Given the description of an element on the screen output the (x, y) to click on. 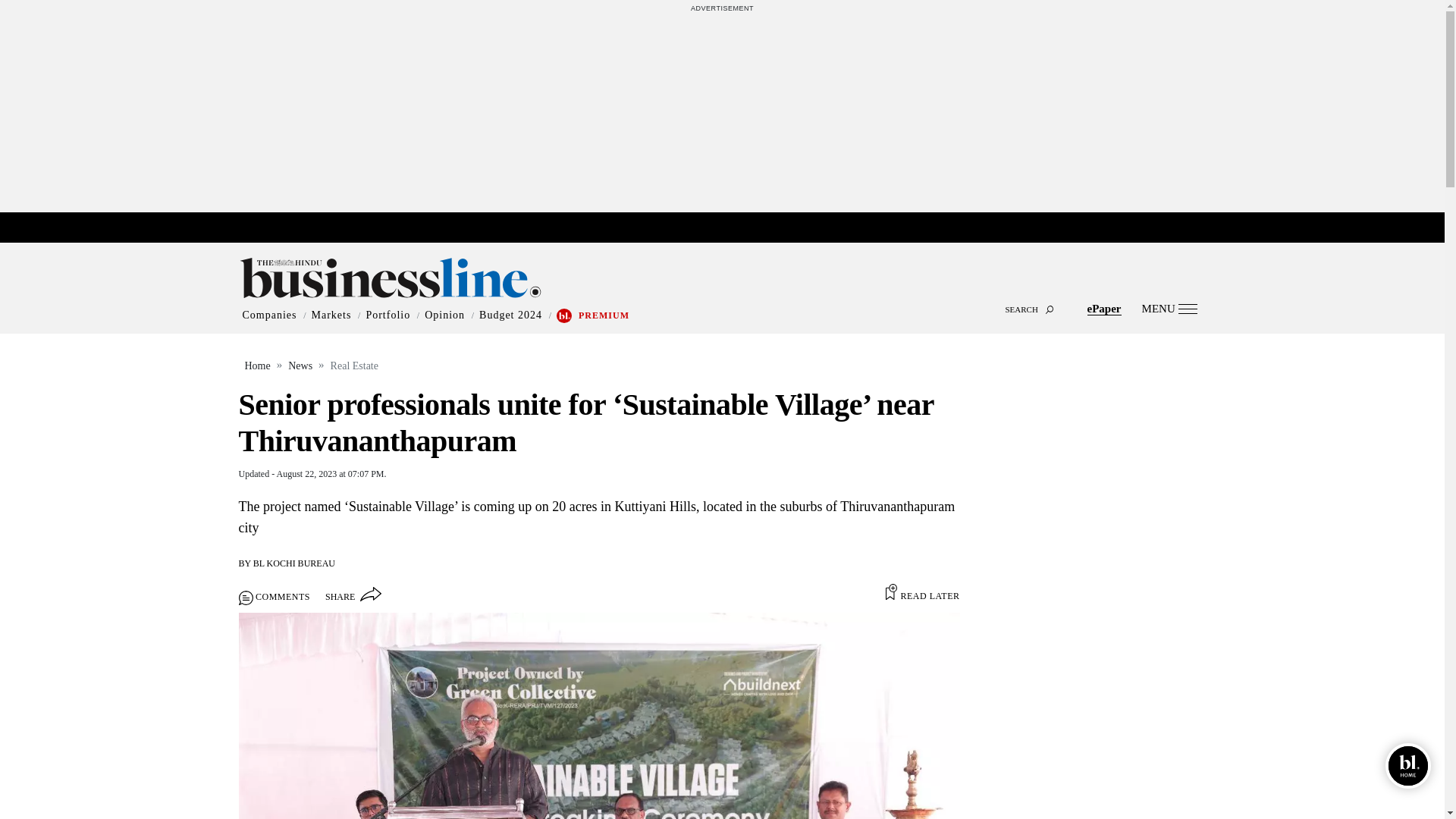
Companies (270, 315)
Markets (330, 315)
PREMIUM (603, 315)
SEARCH (721, 295)
MENU (1168, 308)
marketupdate (729, 228)
ePaper (1104, 308)
Budget 2024 (510, 315)
Portfolio (387, 315)
Opinion (444, 315)
